Given the description of an element on the screen output the (x, y) to click on. 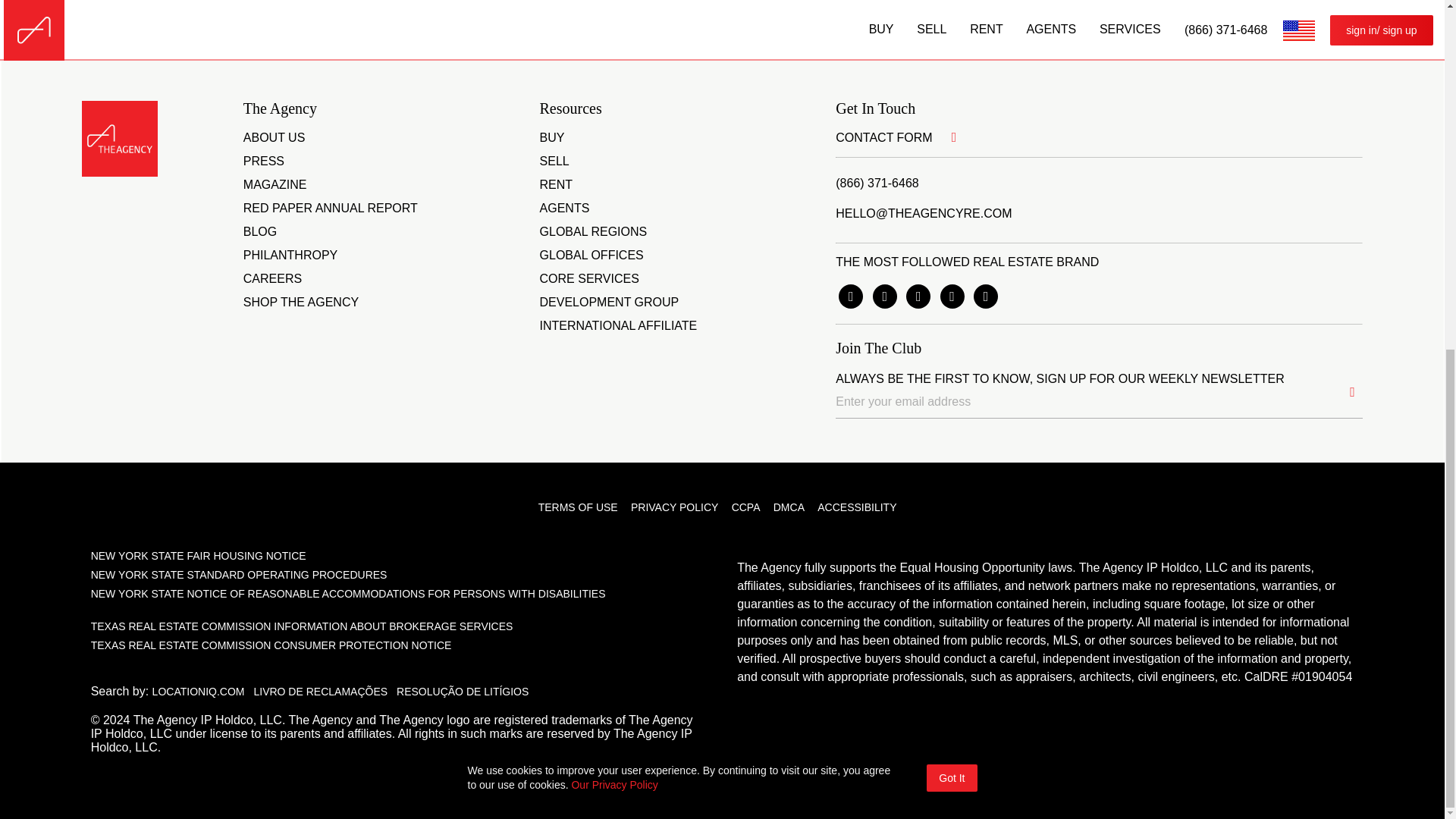
RENT (556, 185)
MAGAZINE (275, 185)
AGENTS (564, 208)
PRESS (263, 161)
BUY (552, 138)
ABOUT US (274, 138)
SHOP THE AGENCY (300, 302)
RED PAPER ANNUAL REPORT (330, 208)
SELL (554, 161)
PHILANTHROPY (290, 255)
CAREERS (272, 278)
GLOBAL REGIONS (593, 232)
BLOG (259, 232)
